Given the description of an element on the screen output the (x, y) to click on. 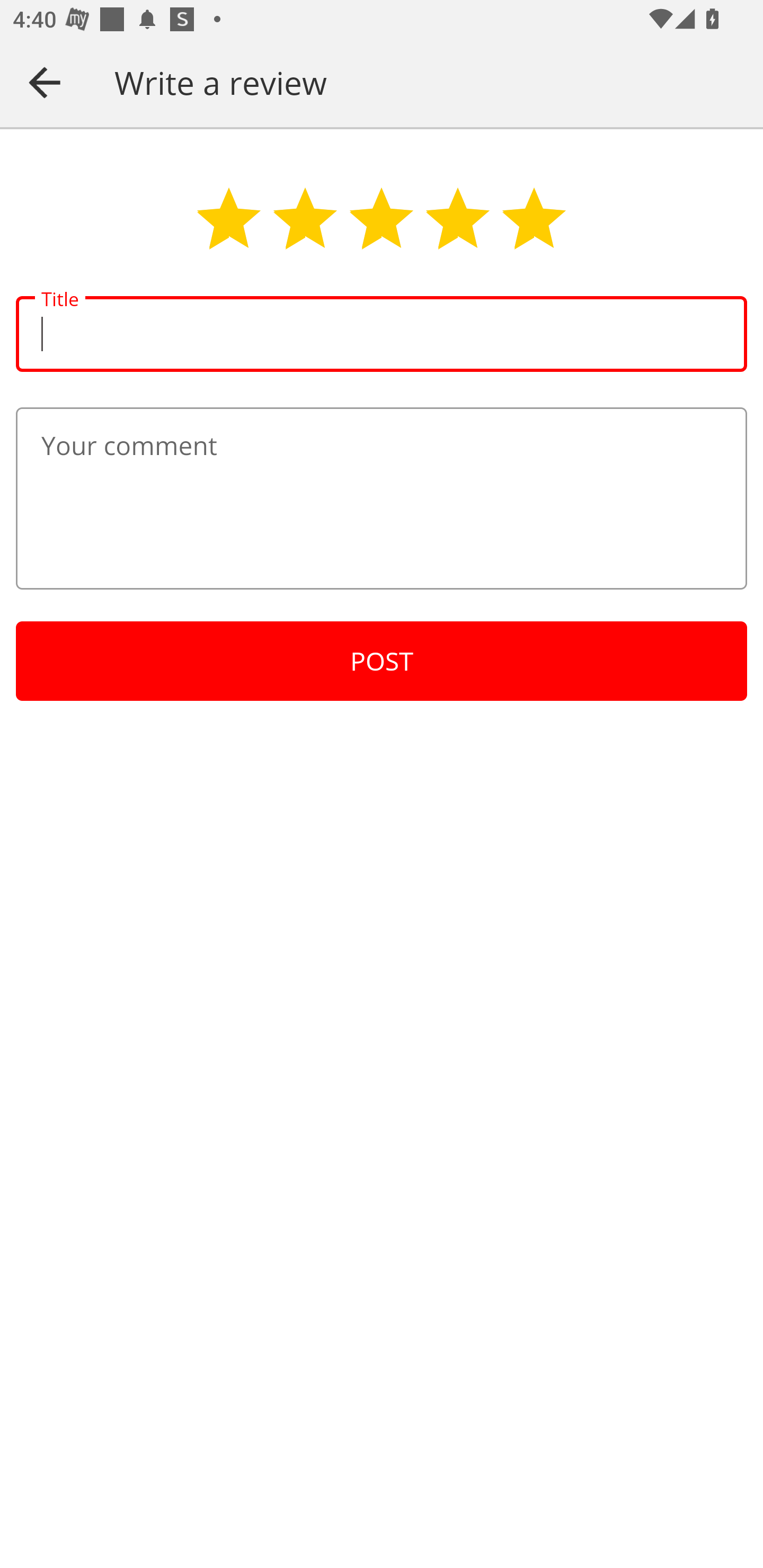
Navigate up (44, 82)
Title (381, 333)
Your comment (381, 498)
POST (381, 660)
